Given the description of an element on the screen output the (x, y) to click on. 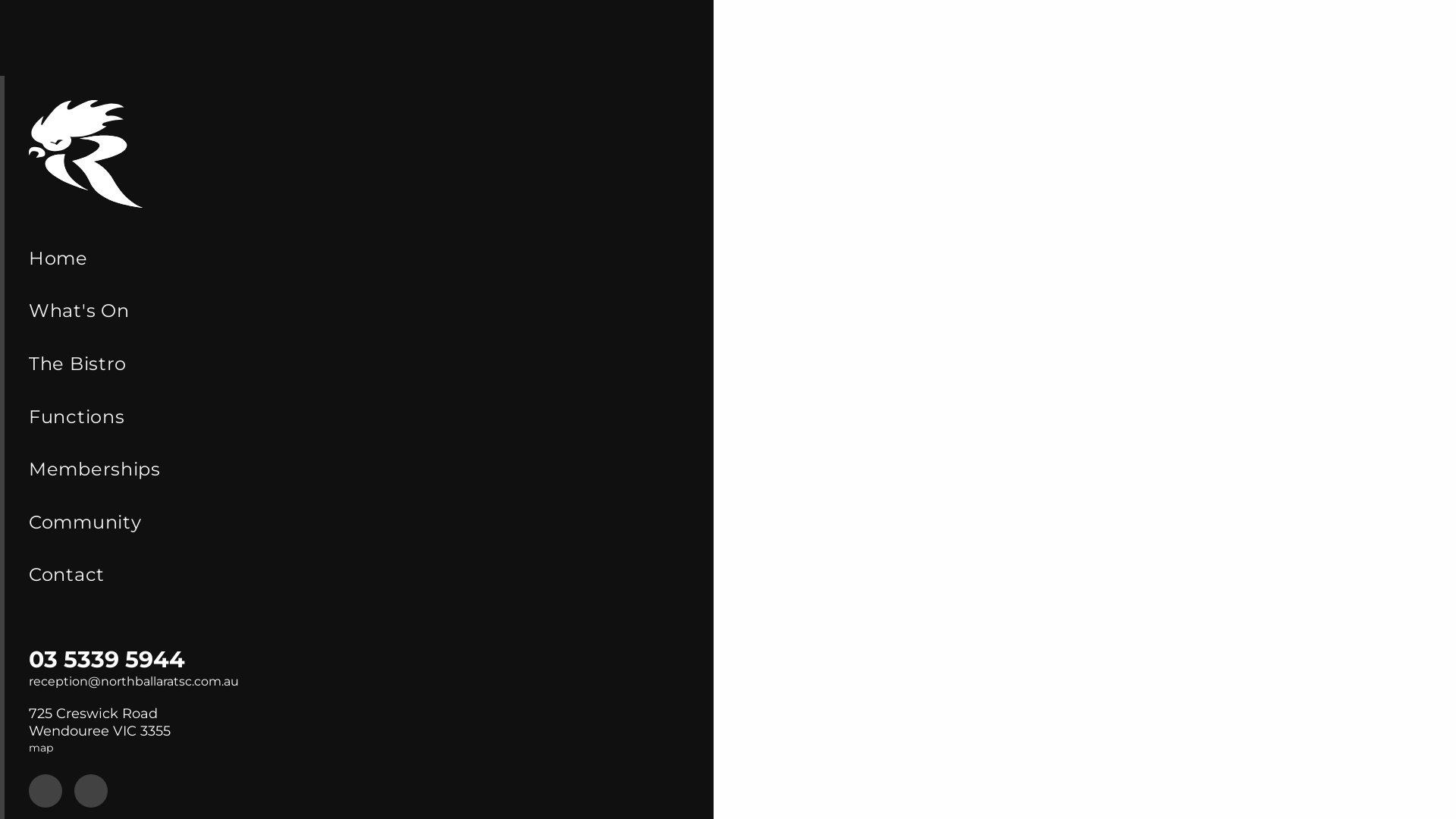
The Bistro Element type: text (358, 363)
Functions Element type: text (358, 416)
Back to home page Element type: hover (85, 153)
map Element type: text (40, 747)
Memberships Element type: text (358, 468)
reception@northballaratsc.com.au Element type: text (133, 681)
Home Element type: text (358, 258)
03 5339 5944 Element type: text (106, 659)
Community Element type: text (358, 522)
Contact Element type: text (358, 575)
What's On Element type: text (358, 311)
